Given the description of an element on the screen output the (x, y) to click on. 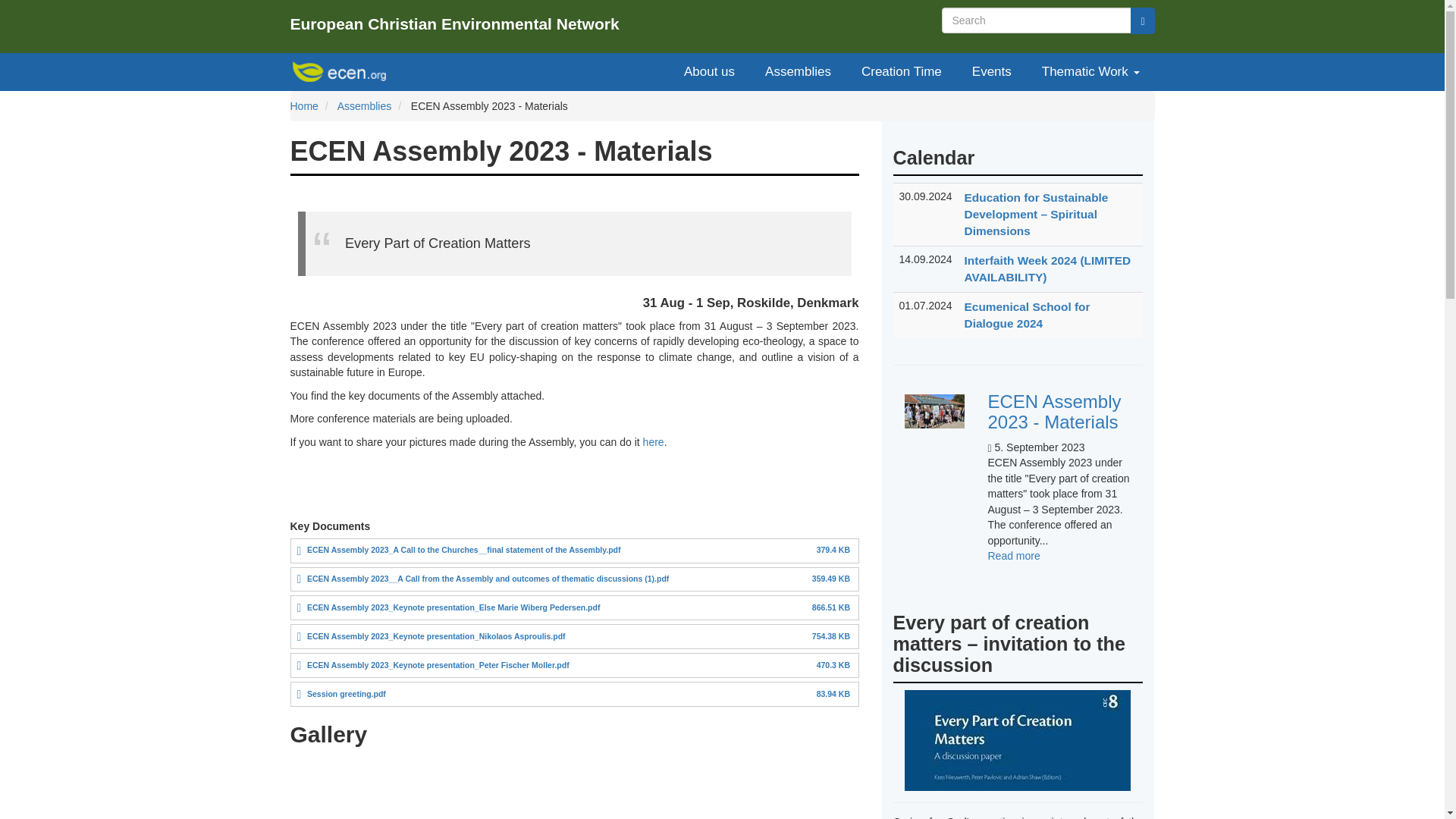
Open file in new window (453, 606)
Assemblies (364, 105)
Home (303, 105)
Events (991, 71)
Ecumenical School for Dialogue 2024 (1026, 315)
About us (1013, 555)
Open file in new window (708, 71)
Open file in new window (487, 578)
Session greeting.pdf (438, 664)
